Given the description of an element on the screen output the (x, y) to click on. 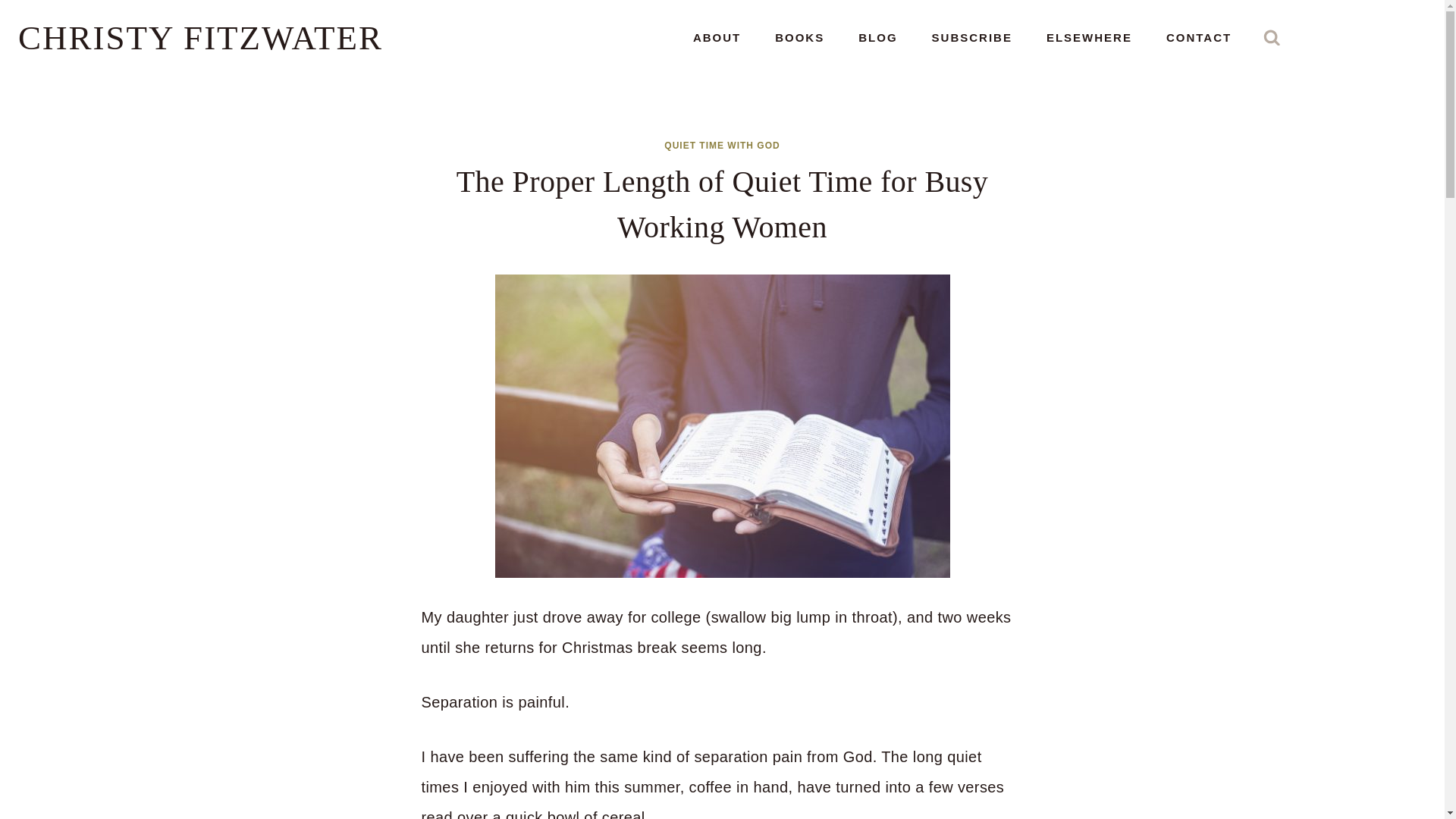
QUIET TIME WITH GOD (720, 145)
Pinterest (1371, 27)
ELSEWHERE (1088, 38)
Instagram (1348, 27)
BOOKS (799, 38)
CONTACT (1197, 38)
Goodreads (1416, 27)
BLOG (877, 38)
Twitter (1394, 27)
Facebook (1326, 27)
CHRISTY FITZWATER (199, 37)
Amazon (1303, 27)
ABOUT (716, 38)
SUBSCRIBE (971, 38)
